Given the description of an element on the screen output the (x, y) to click on. 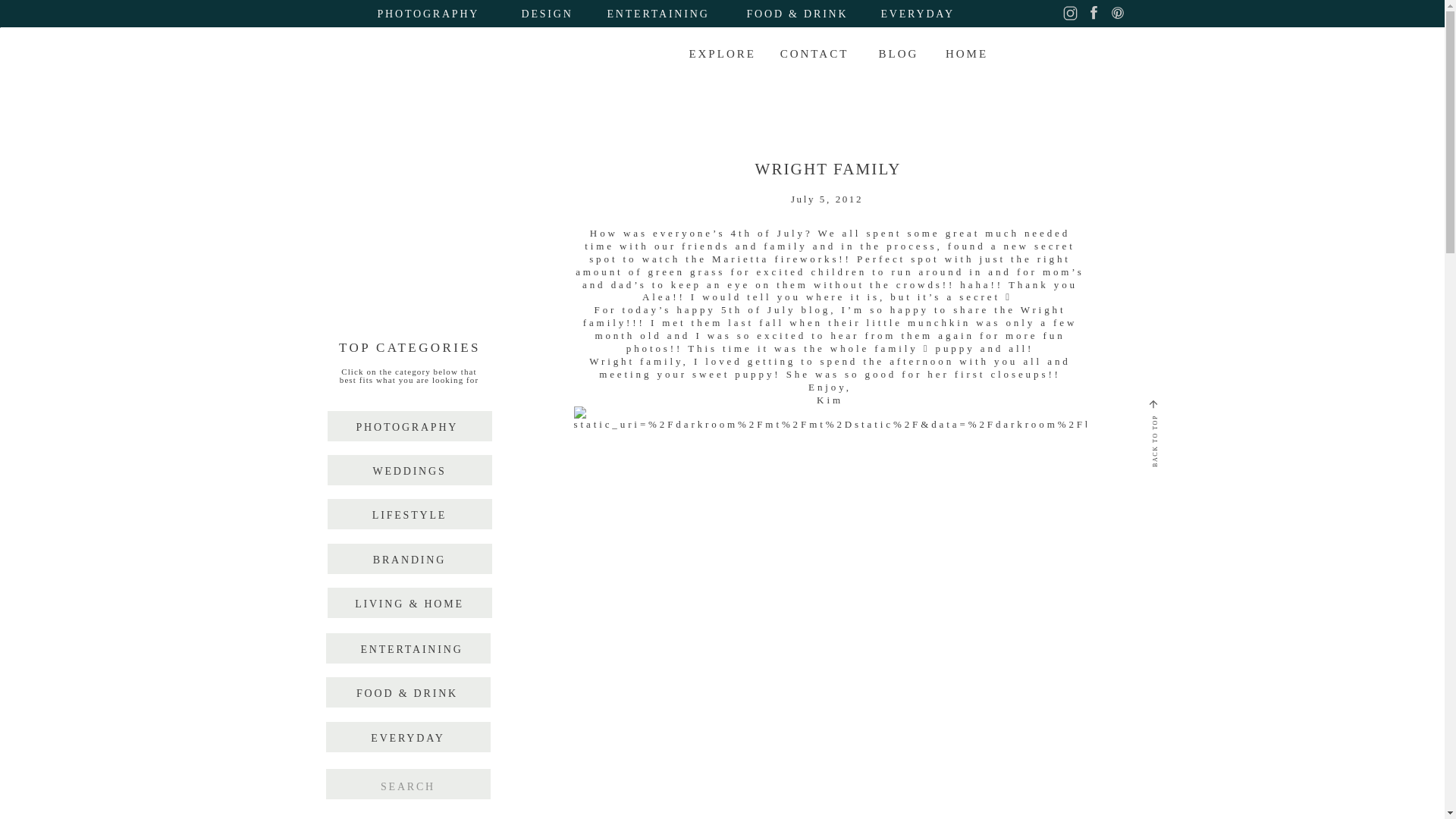
WEDDINGS (409, 472)
PHOTOGRAPHY (433, 15)
PHOTOGRAPHY (403, 428)
LIFESTYLE (409, 516)
BACK TO TOP (1200, 398)
EVERYDAY (408, 739)
BRANDING (409, 561)
EVERYDAY (948, 15)
CONTACT (814, 57)
HOME (966, 57)
ENTERTAINING (663, 15)
DESIGN (560, 15)
BLOG (897, 57)
ENTERTAINING (408, 650)
EXPLORE  (724, 56)
